Given the description of an element on the screen output the (x, y) to click on. 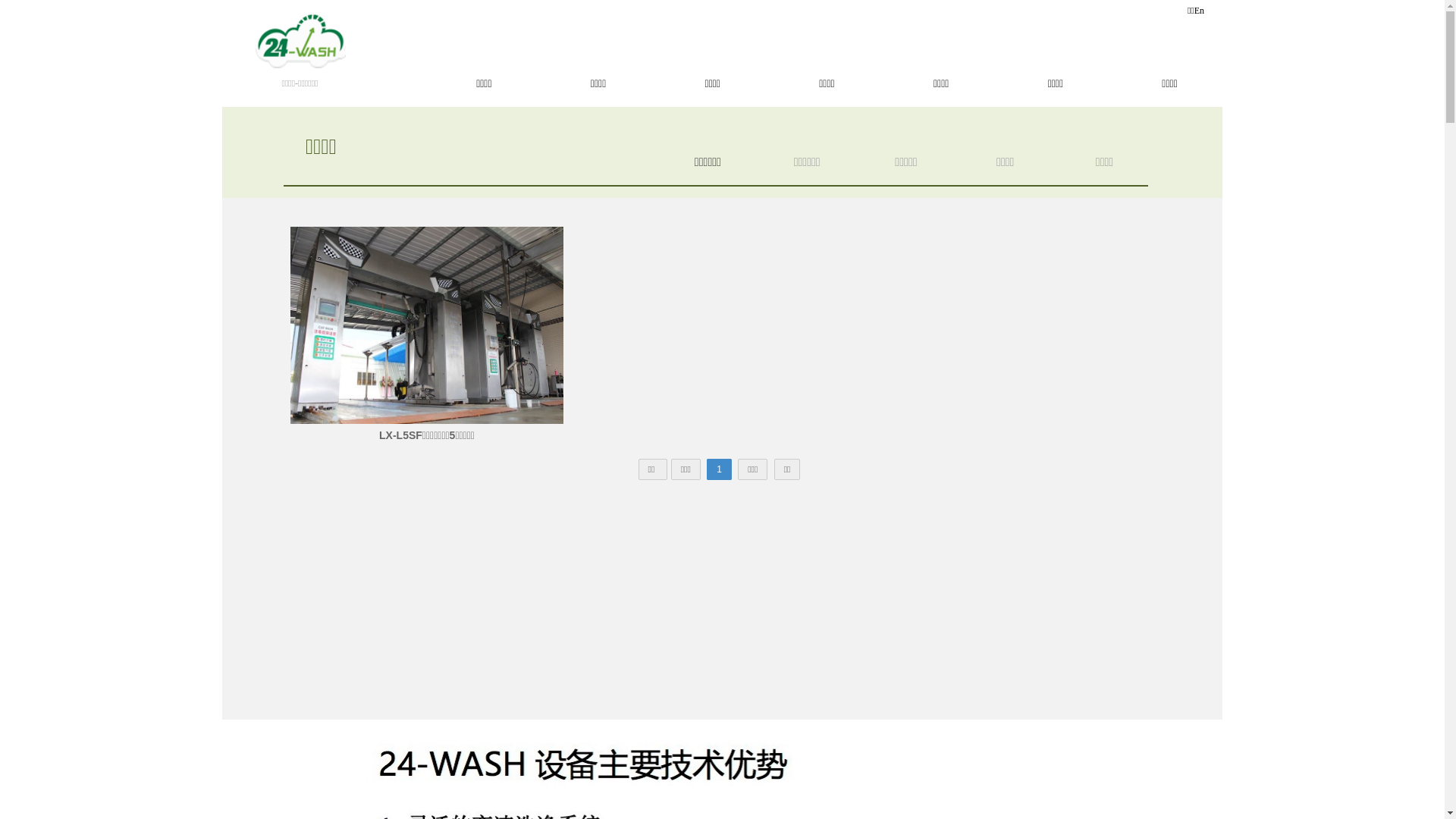
1 Element type: text (718, 469)
